Given the description of an element on the screen output the (x, y) to click on. 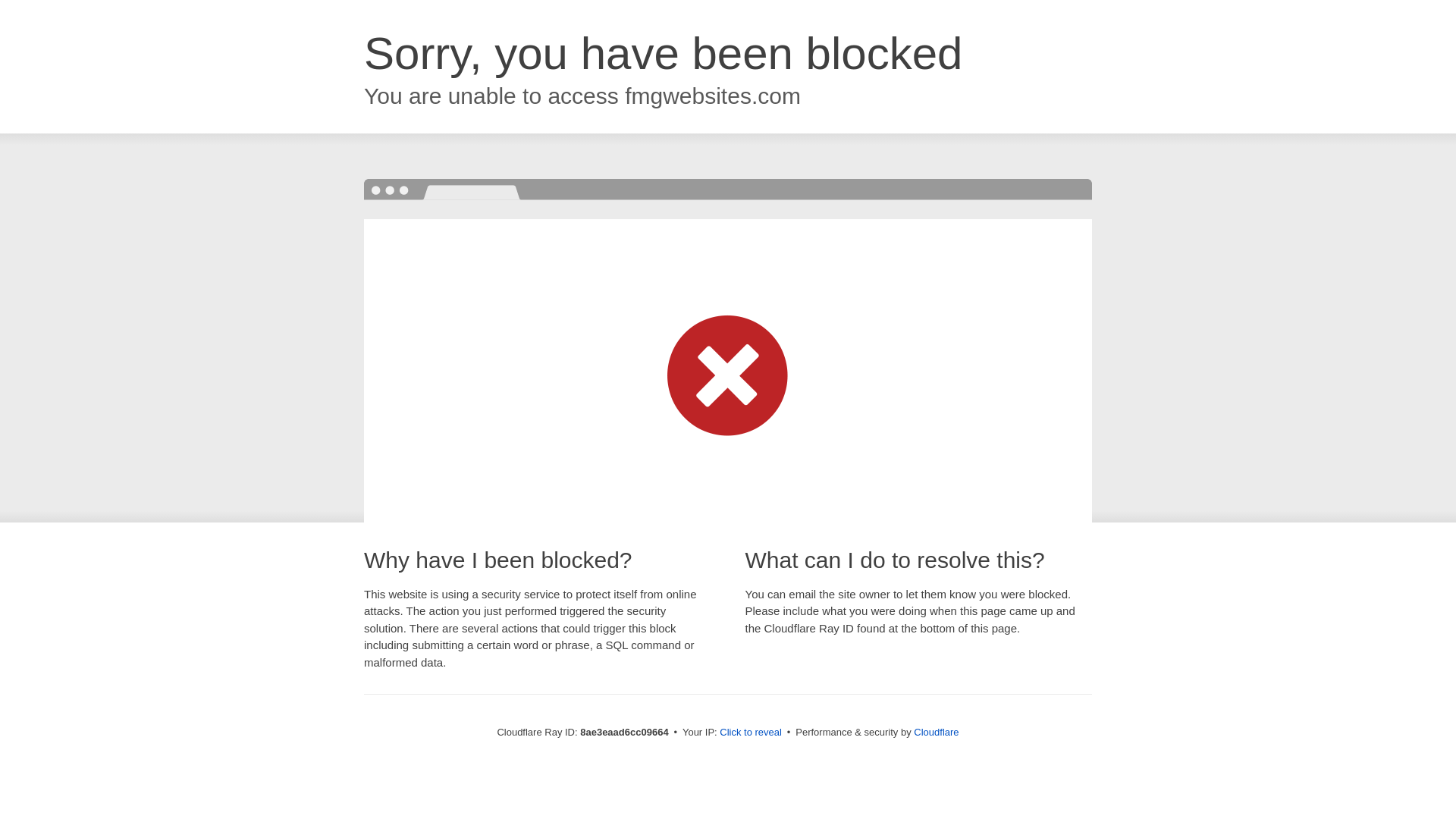
Cloudflare (936, 731)
Click to reveal (750, 732)
